Given the description of an element on the screen output the (x, y) to click on. 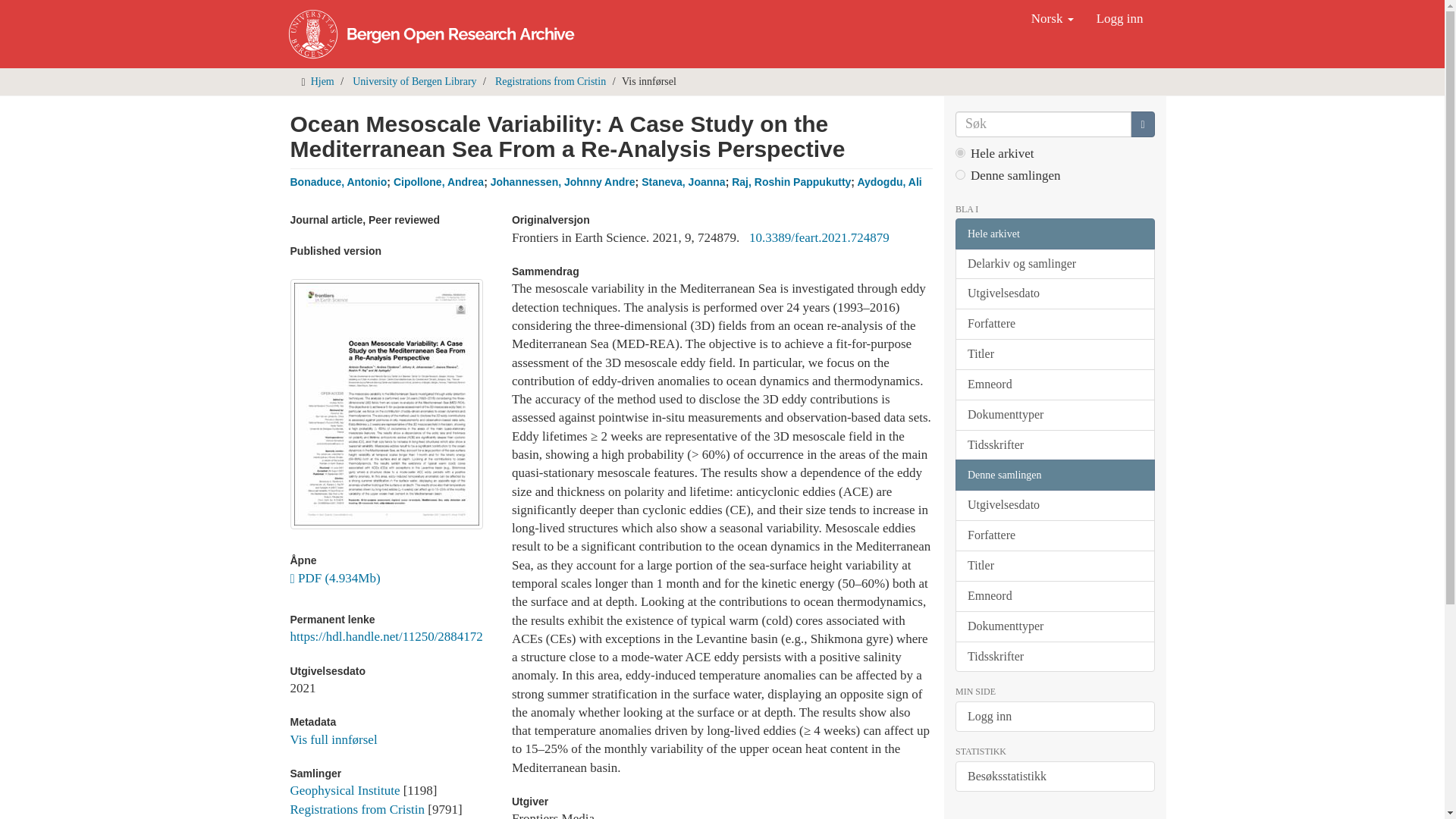
Registrations from Cristin (550, 81)
Bonaduce, Antonio (338, 182)
Geophysical Institute (343, 789)
Staneva, Joanna (683, 182)
Logg inn (1119, 18)
Cipollone, Andrea (438, 182)
Aydogdu, Ali (889, 182)
Johannessen, Johnny Andre (562, 182)
Registrations from Cristin (357, 809)
Hjem (322, 81)
University of Bergen Library (414, 81)
Norsk  (1052, 18)
Raj, Roshin Pappukutty (791, 182)
